Given the description of an element on the screen output the (x, y) to click on. 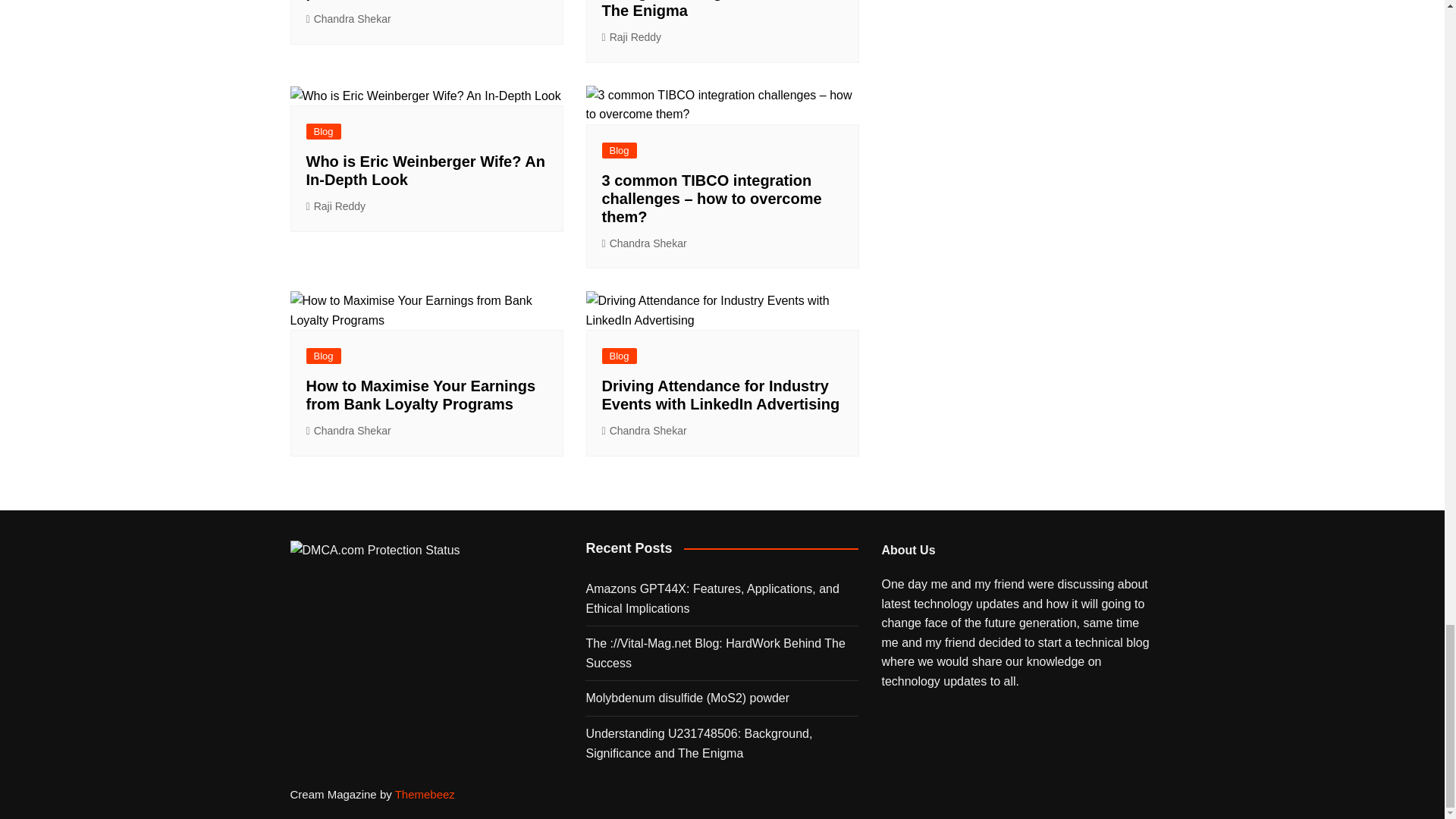
Raji Reddy (632, 36)
DMCA.com Protection Status (374, 549)
Chandra Shekar (348, 18)
Who is Eric Weinberger Wife? An In-Depth Look (424, 170)
Raji Reddy (335, 206)
Blog (322, 131)
Blog (619, 150)
Chandra Shekar (644, 243)
